Given the description of an element on the screen output the (x, y) to click on. 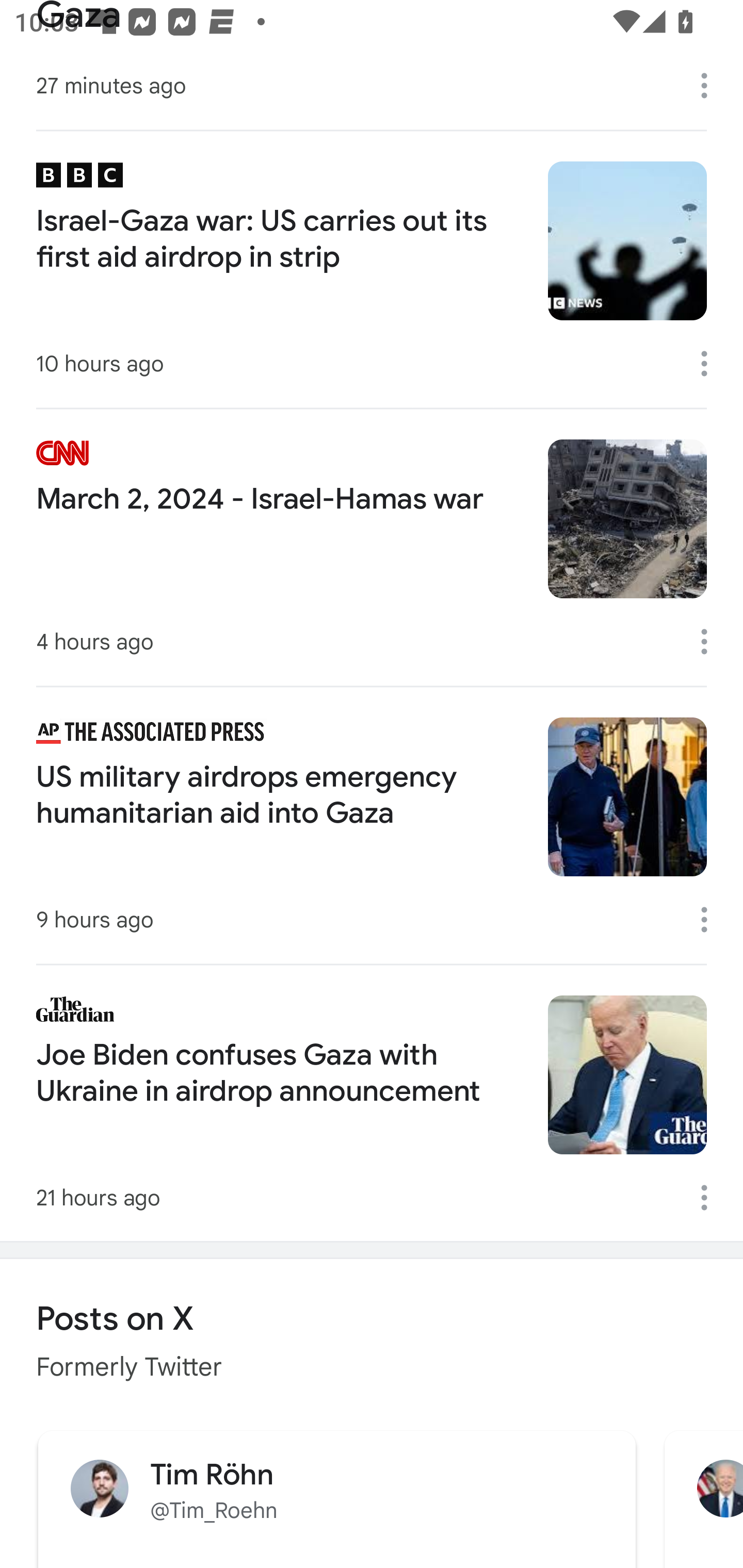
More options (711, 85)
More options (711, 363)
More options (711, 641)
More options (711, 919)
More options (711, 1197)
